Given the description of an element on the screen output the (x, y) to click on. 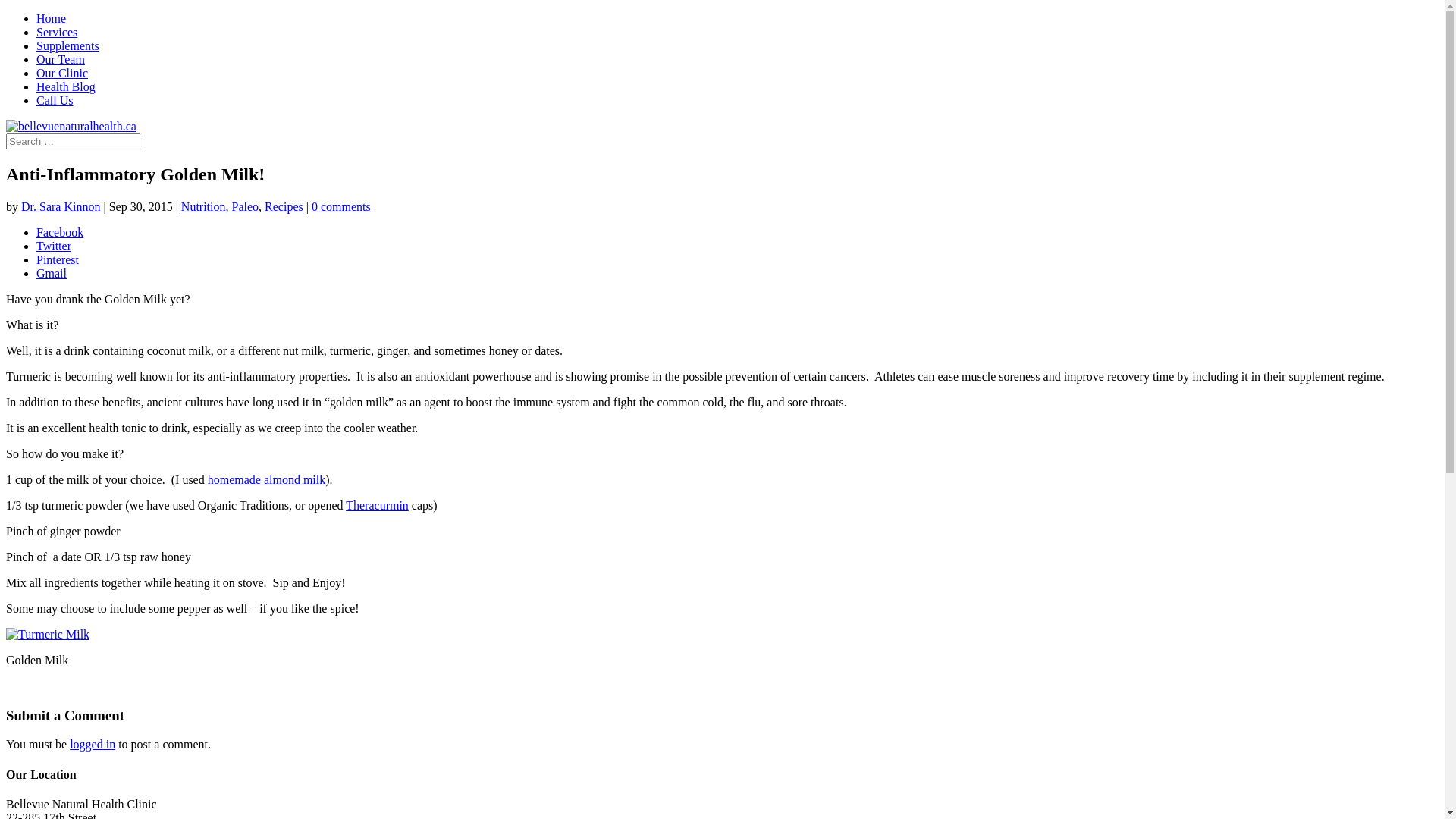
Nutrition Element type: text (203, 206)
Search for: Element type: hover (73, 141)
Gmail Element type: text (737, 273)
logged in Element type: text (92, 743)
Golden Milk Element type: hover (47, 634)
Pinterest Element type: text (737, 259)
Our Team Element type: text (60, 59)
Dr. Sara Kinnon Element type: text (60, 206)
Theracurmin Element type: text (376, 504)
homemade almond milk Element type: text (266, 479)
Our Clinic Element type: text (61, 72)
Call Us Element type: text (54, 100)
Paleo Element type: text (245, 206)
Supplements Element type: text (67, 45)
Health Blog Element type: text (65, 86)
Twitter Element type: text (737, 246)
Facebook Element type: text (737, 232)
Recipes Element type: text (283, 206)
Home Element type: text (50, 18)
0 comments Element type: text (340, 206)
Services Element type: text (56, 31)
